Given the description of an element on the screen output the (x, y) to click on. 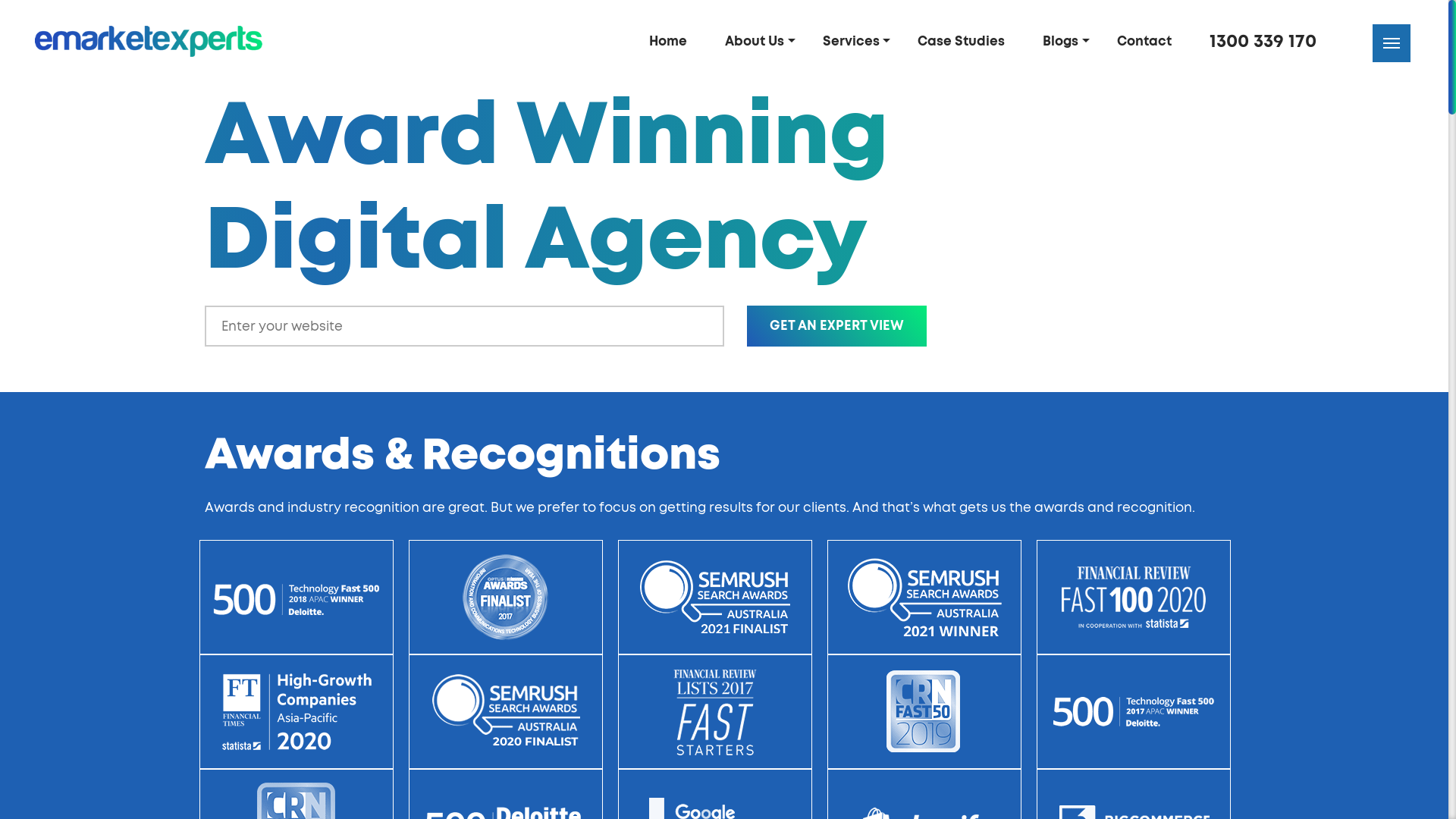
Case Studies Element type: text (966, 41)
GET AN EXPERT VIEW Element type: text (836, 325)
Services Element type: text (856, 41)
1300 339 170 Element type: text (1270, 41)
Home Element type: text (673, 41)
Blogs Element type: text (1065, 41)
Contact Element type: text (1149, 41)
About Us Element type: text (759, 41)
